Given the description of an element on the screen output the (x, y) to click on. 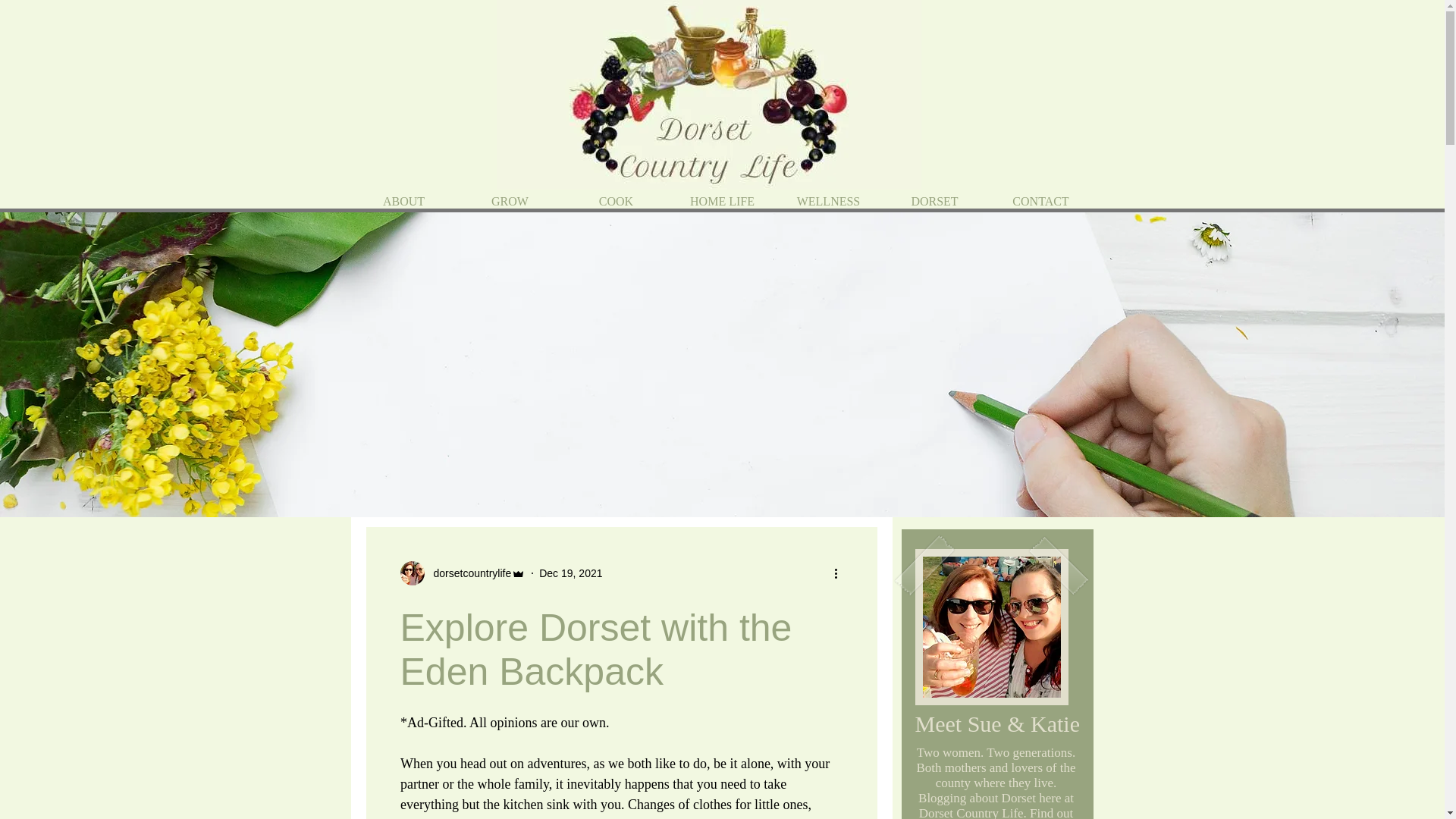
GROW (509, 200)
dorsetcountrylife (468, 573)
Dec 19, 2021 (570, 573)
ABOUT (403, 200)
COOK (615, 200)
CONTACT (1040, 200)
WELLNESS (827, 200)
HOME LIFE (721, 200)
DORSET (933, 200)
